Given the description of an element on the screen output the (x, y) to click on. 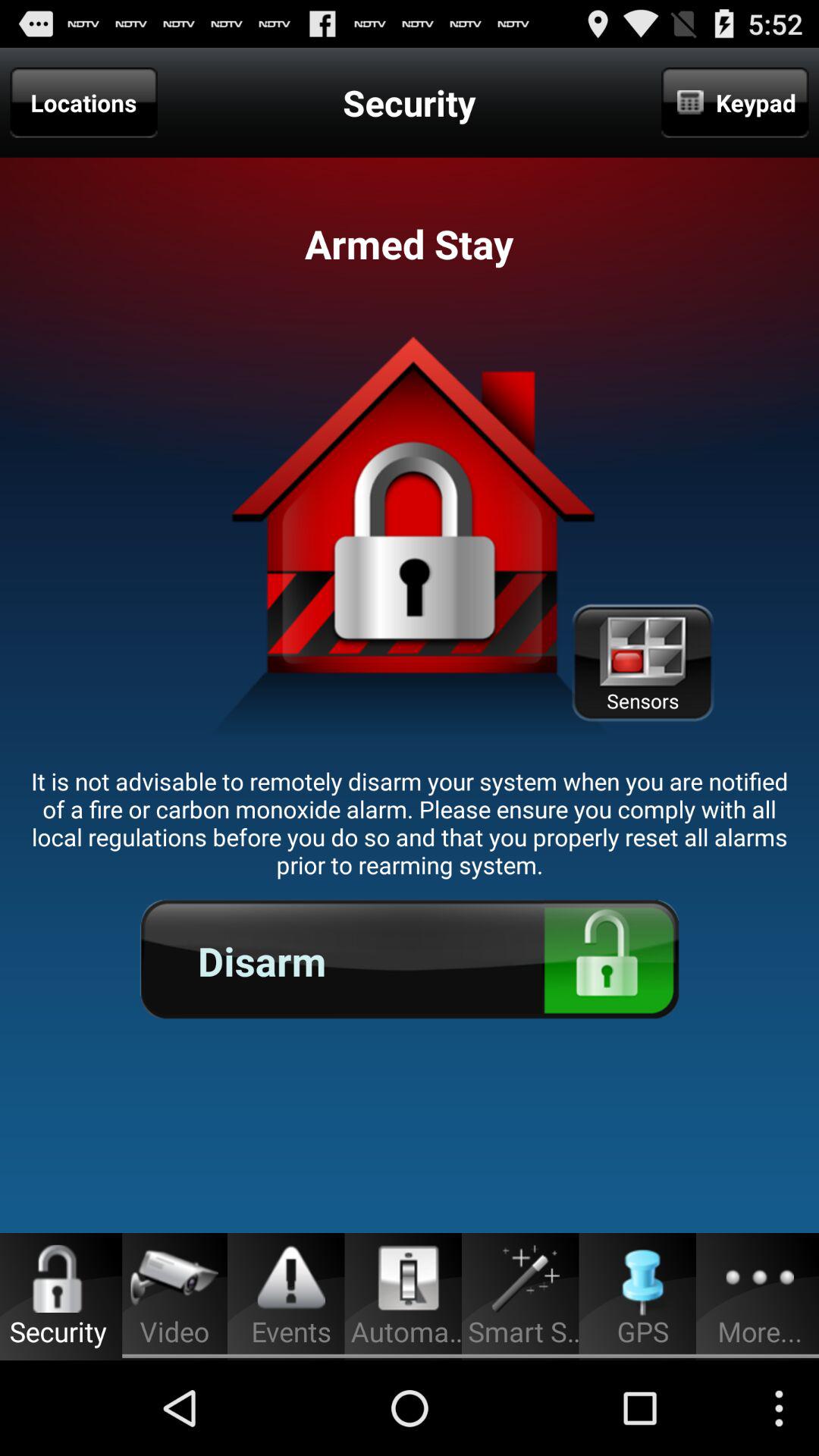
turn off the item to the right of the security (734, 102)
